Given the description of an element on the screen output the (x, y) to click on. 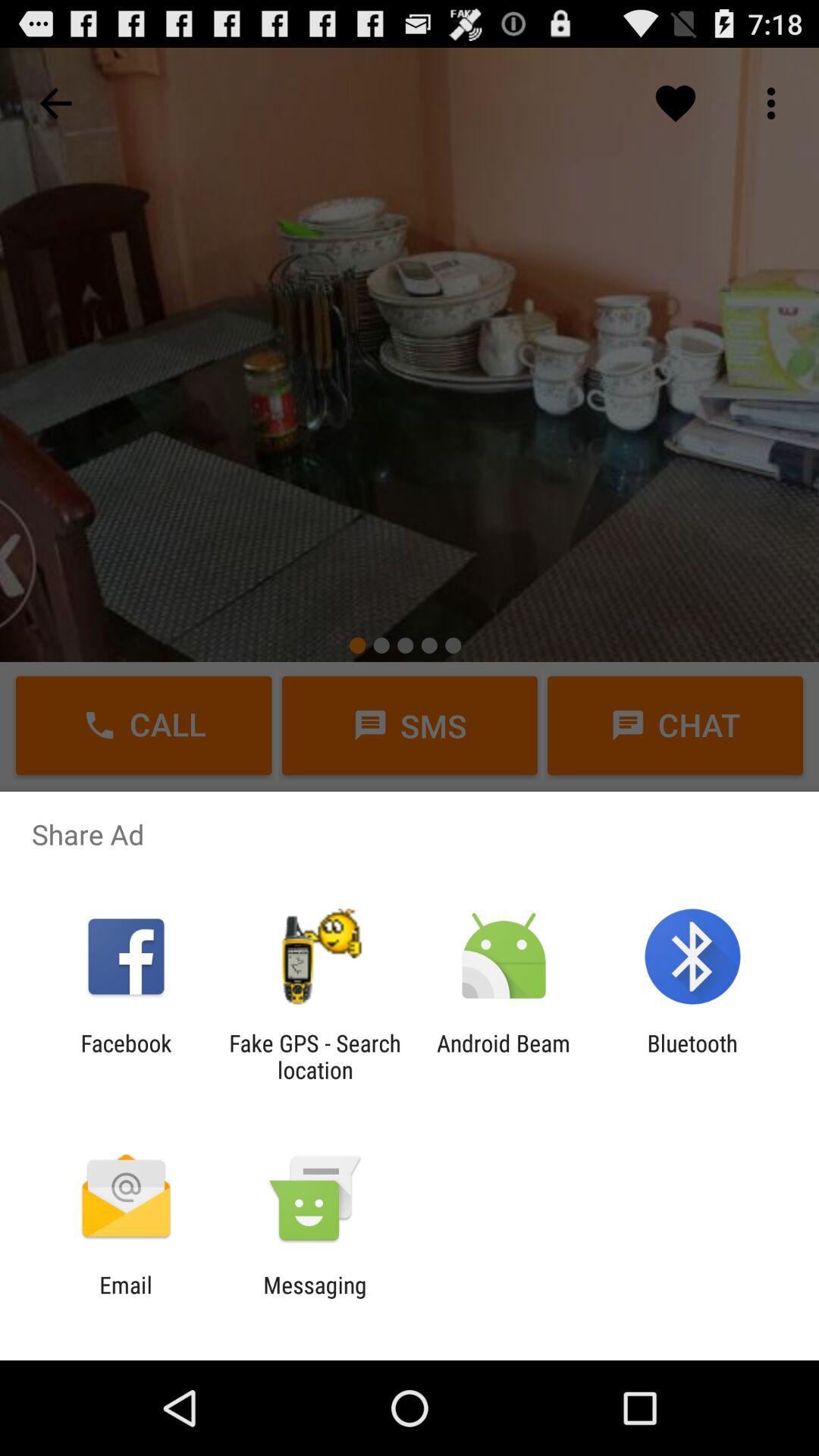
turn on the item to the left of android beam item (314, 1056)
